Given the description of an element on the screen output the (x, y) to click on. 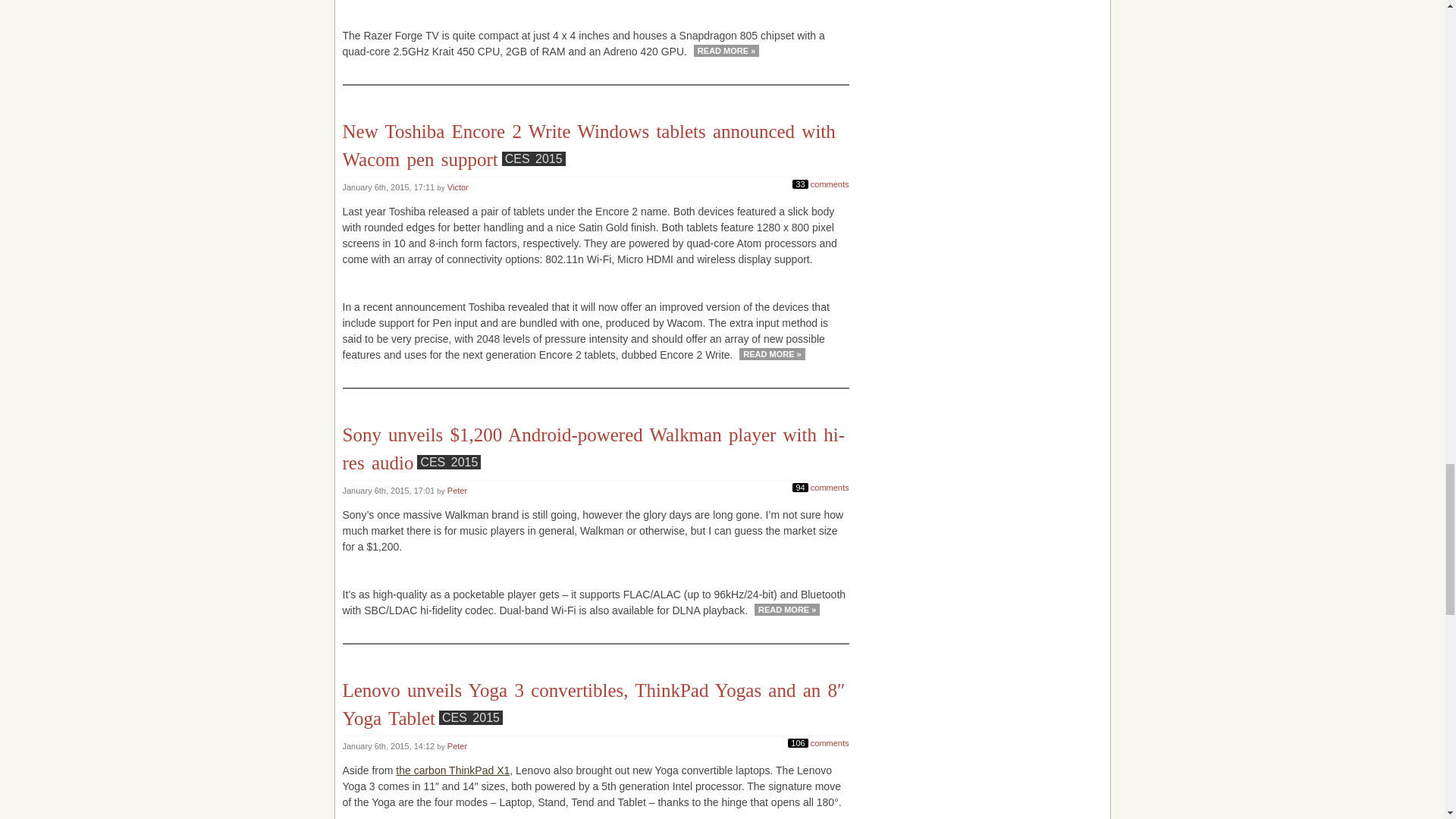
06 January 2015 17:11:17 PM (390, 186)
